Given the description of an element on the screen output the (x, y) to click on. 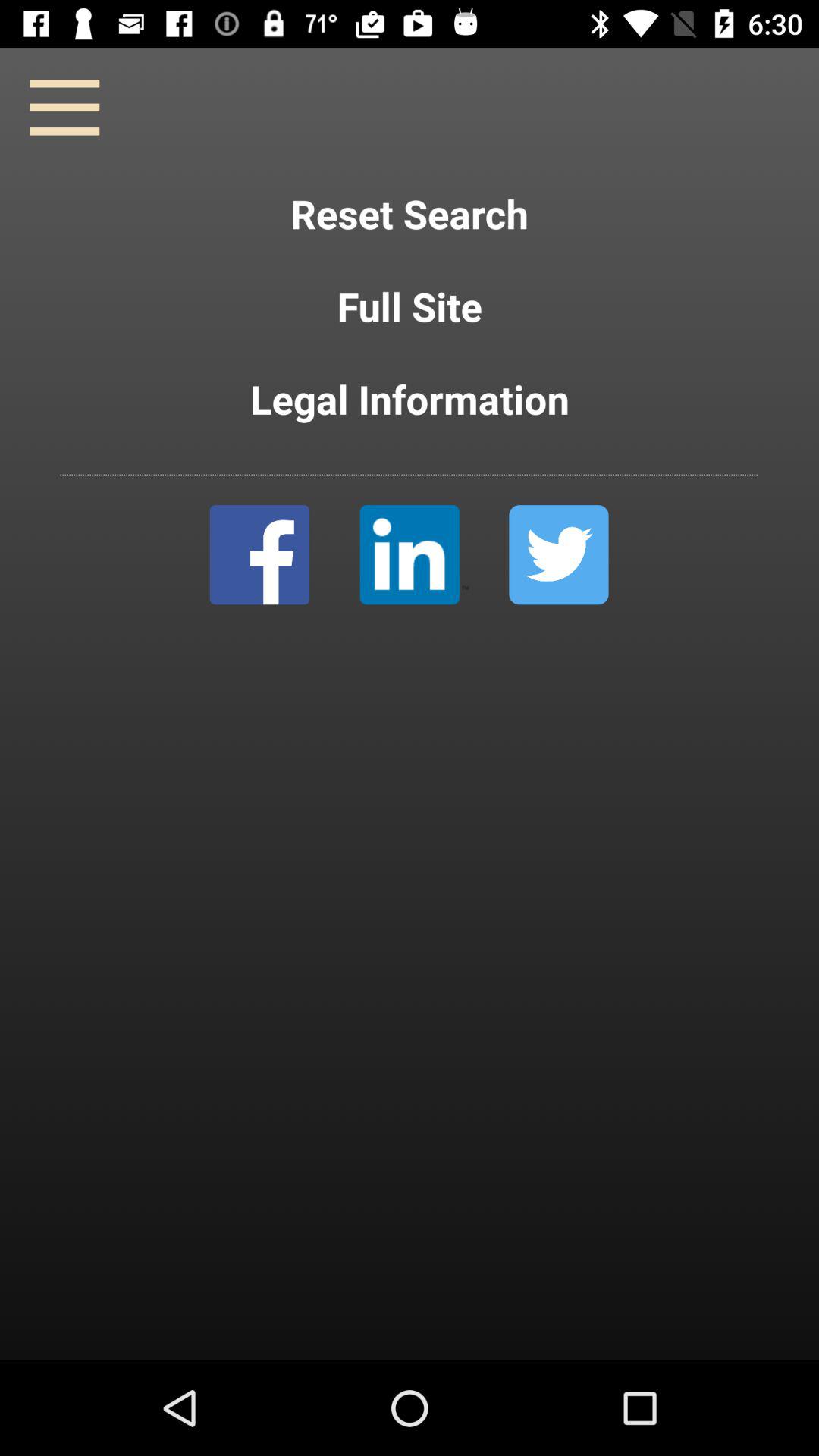
facebook page (259, 554)
